Given the description of an element on the screen output the (x, y) to click on. 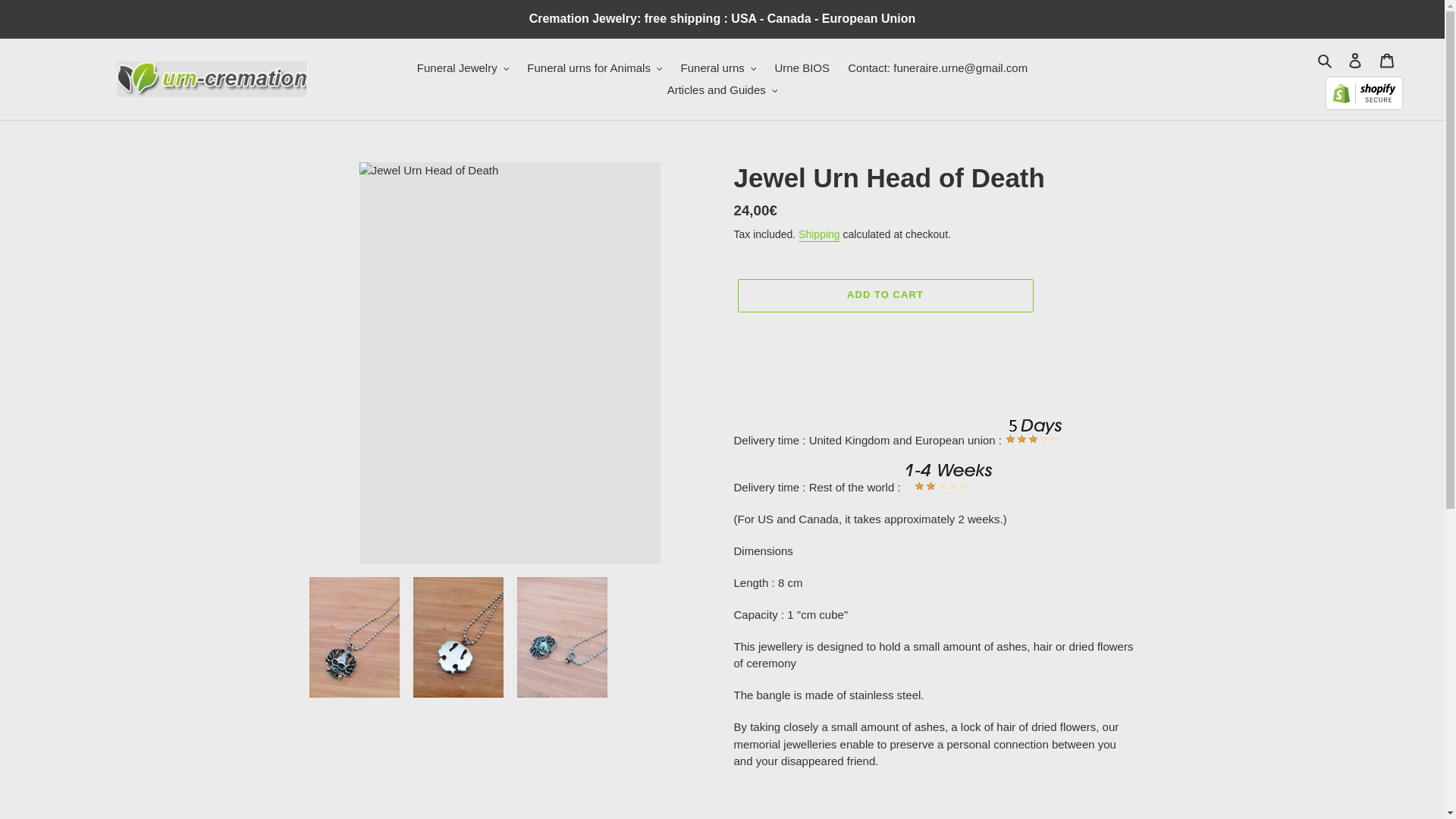
Funeral urns (718, 68)
Funeral urns for Animals (594, 68)
Funeral Jewelry (462, 68)
Articles and Guides (722, 89)
Urne BIOS (802, 68)
